Given the description of an element on the screen output the (x, y) to click on. 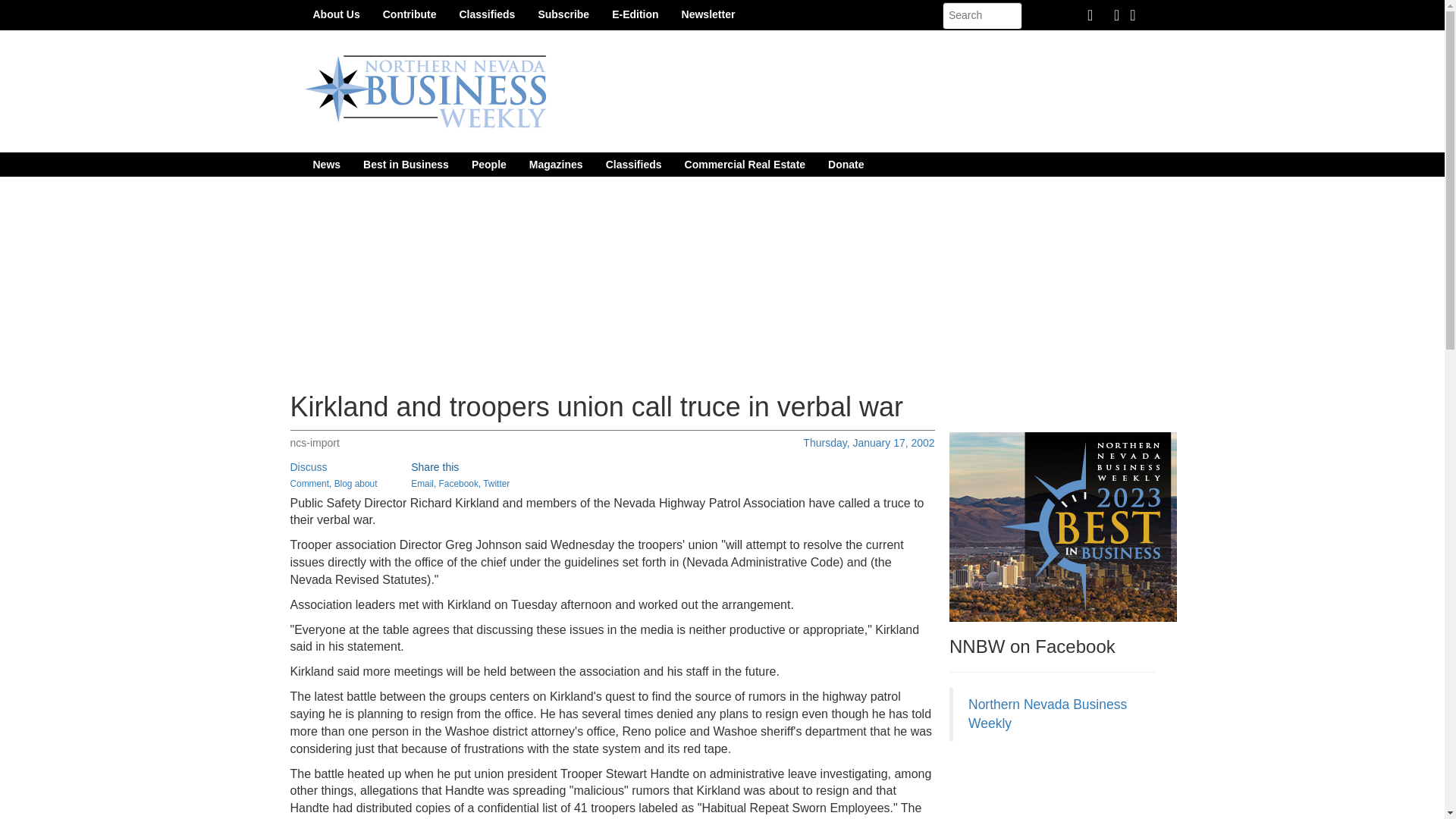
Commercial Real Estate (744, 164)
Comment (309, 483)
Contribute (409, 14)
3rd party ad content (1062, 787)
Classifieds (485, 14)
Best in Business (406, 164)
E-Edition (634, 14)
People (489, 164)
Twitter (496, 483)
Email, (422, 483)
Newsletter (707, 14)
Donate (845, 164)
Subscribe (562, 14)
Classifieds (633, 164)
Discuss (307, 467)
